Given the description of an element on the screen output the (x, y) to click on. 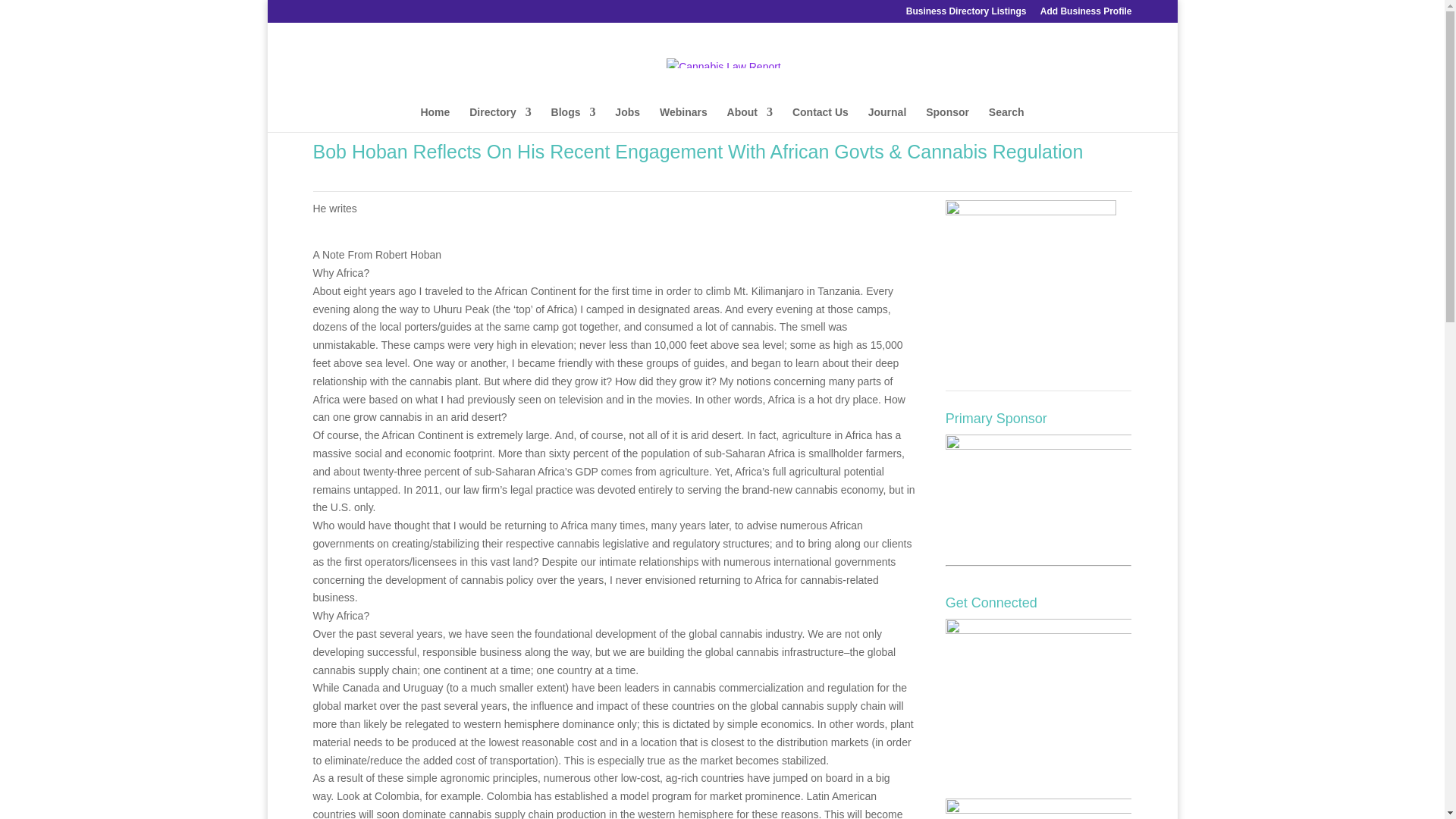
images (1030, 284)
Directory (499, 119)
Home (434, 119)
Add Business Profile (1086, 14)
Blogs (573, 119)
Business Directory Listings (965, 14)
